Given the description of an element on the screen output the (x, y) to click on. 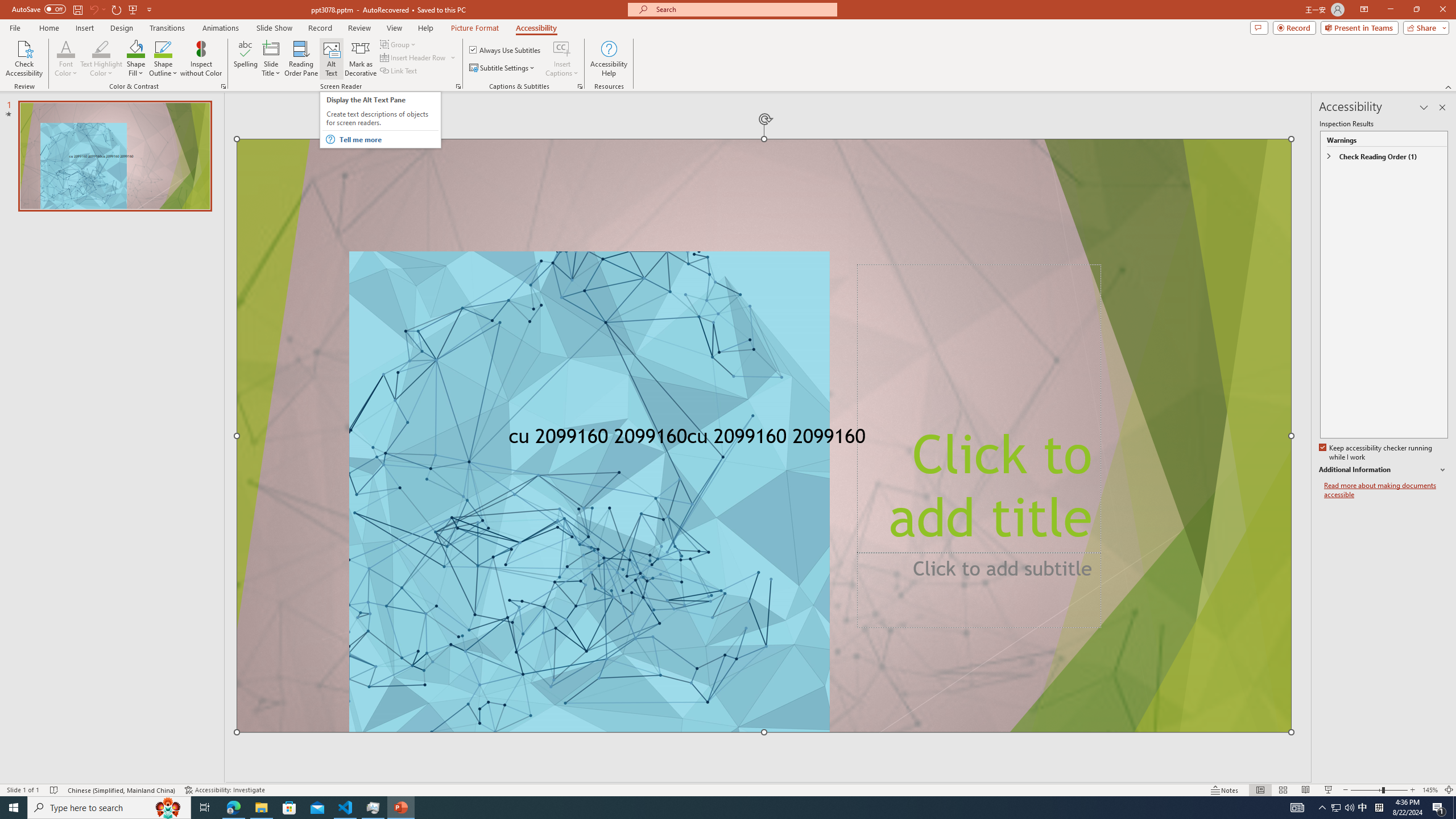
Captions & Subtitles (580, 85)
Screen Reader (458, 85)
Subtitle Settings (502, 67)
